Given the description of an element on the screen output the (x, y) to click on. 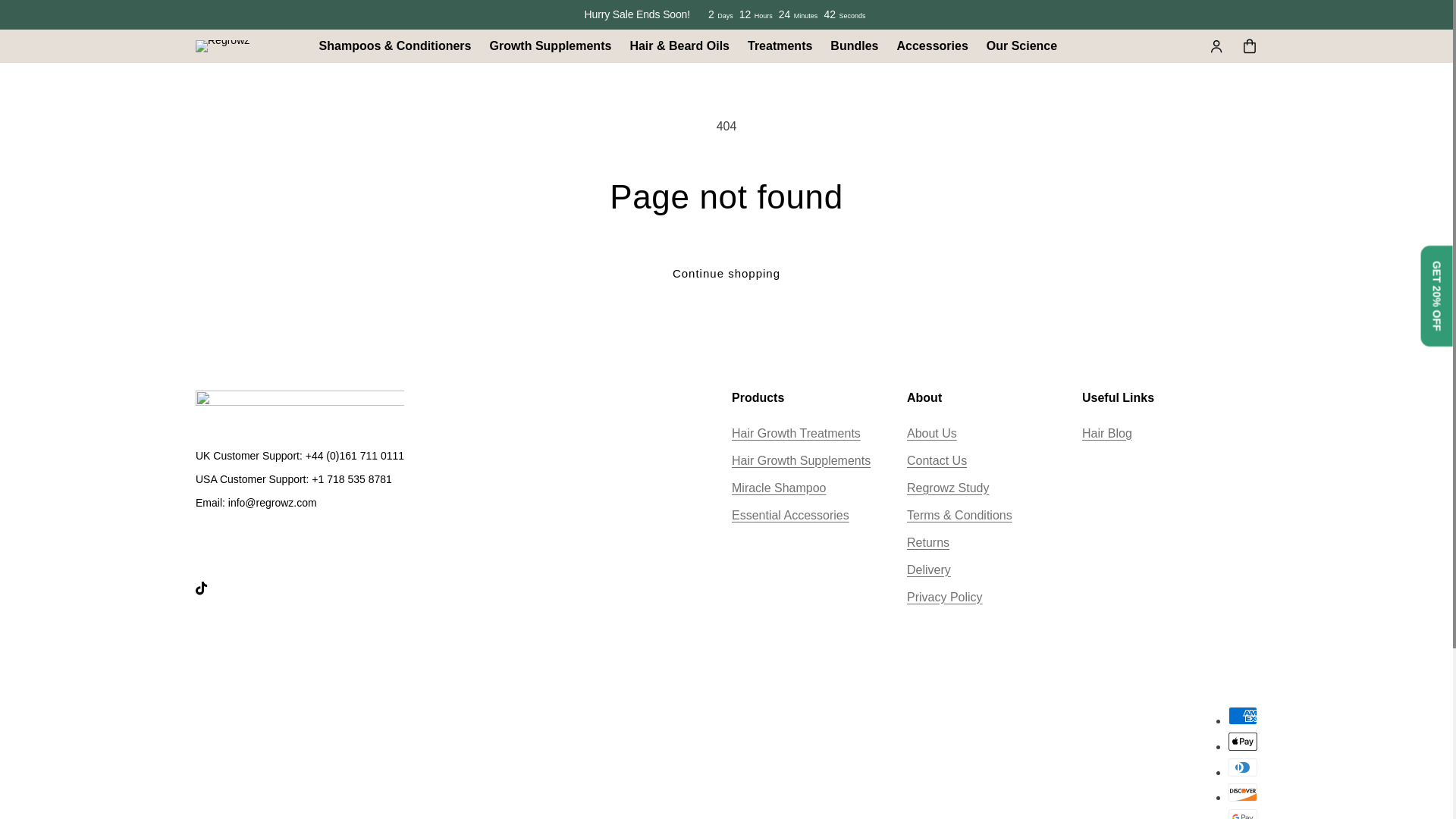
Skip to content (45, 17)
Diners Club (1242, 767)
Accessories (931, 45)
Miracle Shampoo (779, 488)
Log in (1216, 46)
Our Science (1020, 45)
Apple Pay (1242, 741)
Bundles (853, 45)
Discover (1242, 791)
Hair Growth Treatments (796, 433)
